Given the description of an element on the screen output the (x, y) to click on. 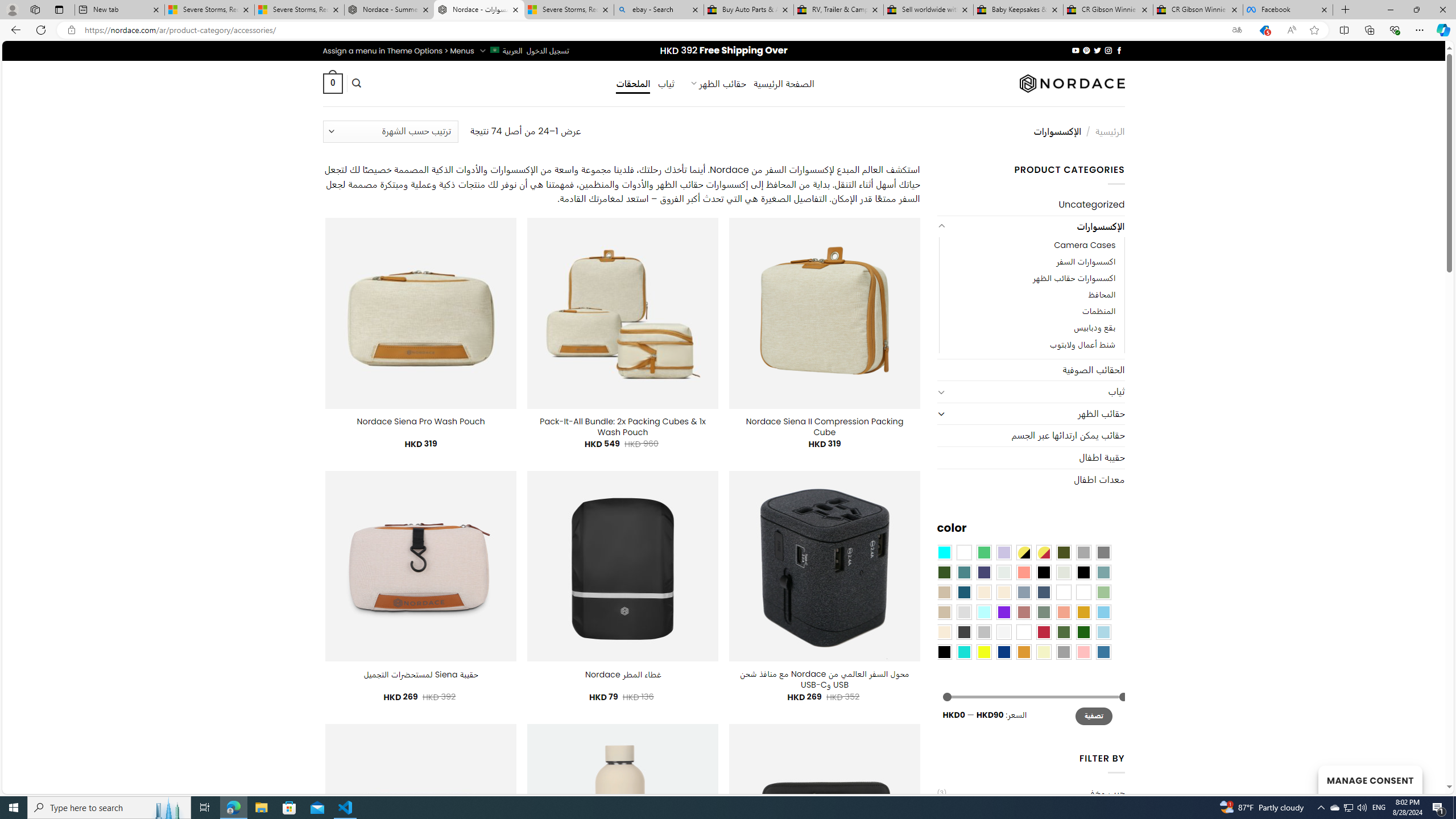
Ash Gray (1063, 572)
RV, Trailer & Camper Steps & Ladders for sale | eBay (838, 9)
Read aloud this page (Ctrl+Shift+U) (1291, 29)
Tab actions menu (58, 9)
Light Green (1103, 591)
Emerald Green (983, 551)
